Given the description of an element on the screen output the (x, y) to click on. 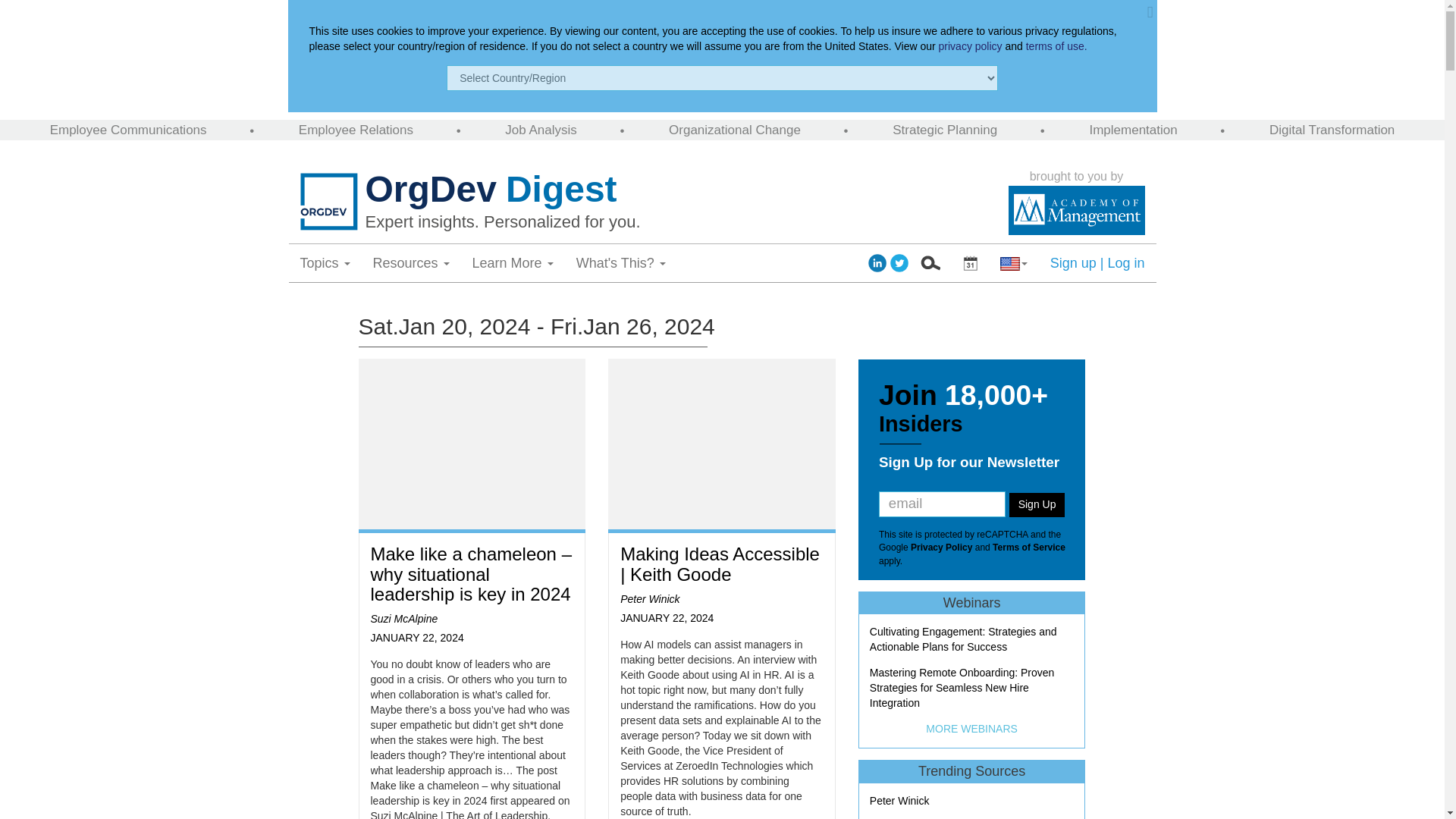
terms of use. (1056, 46)
Select edition (970, 262)
Employee Relations (355, 129)
Organizational Change (734, 129)
OrgDev Digest (683, 189)
Organizational Change (734, 129)
Select your country (1013, 262)
Strategic Planning (944, 129)
Job Analysis (540, 129)
Employee Communications (127, 129)
